Given the description of an element on the screen output the (x, y) to click on. 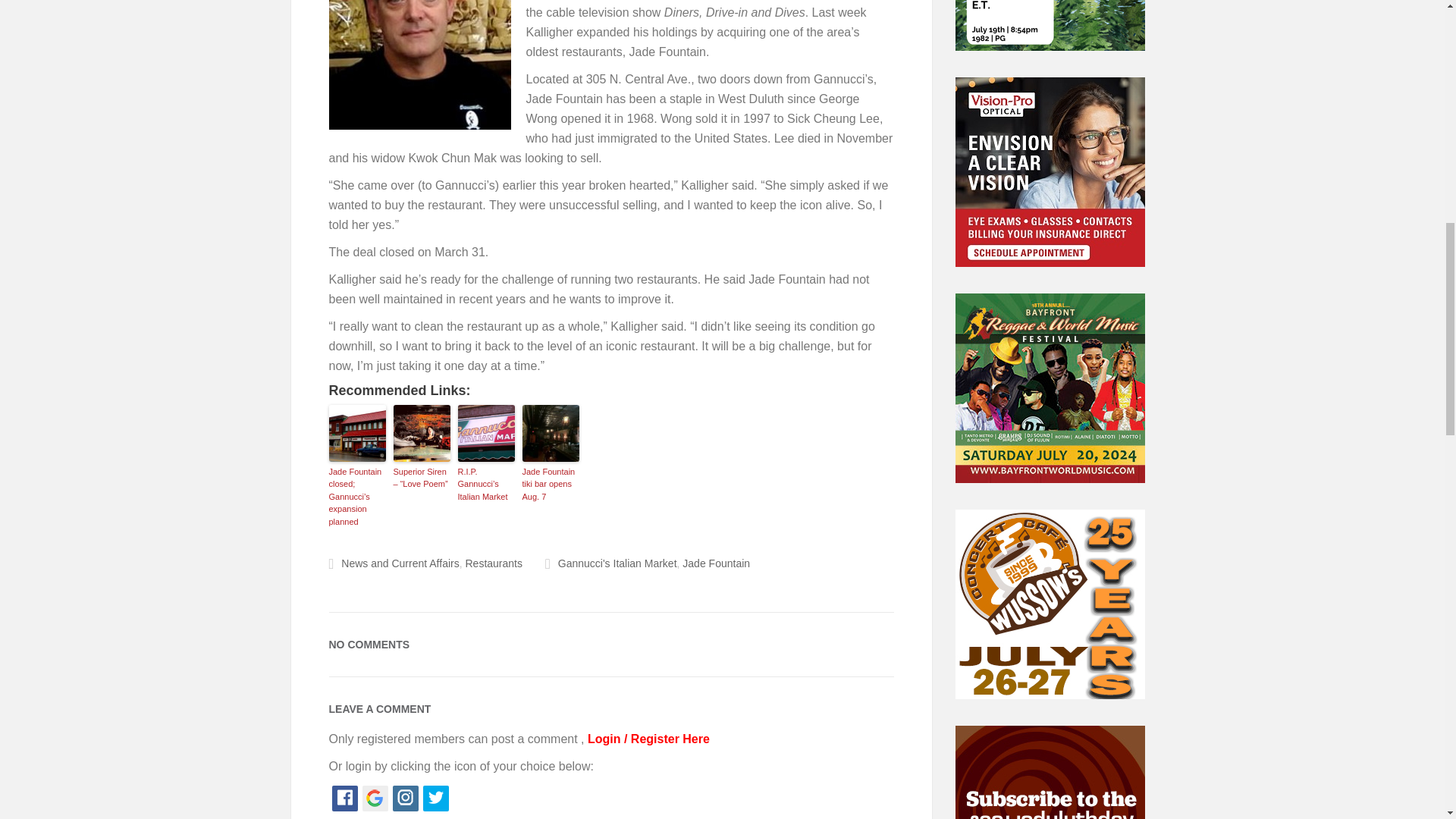
Login with Social Networks (612, 800)
